Given the description of an element on the screen output the (x, y) to click on. 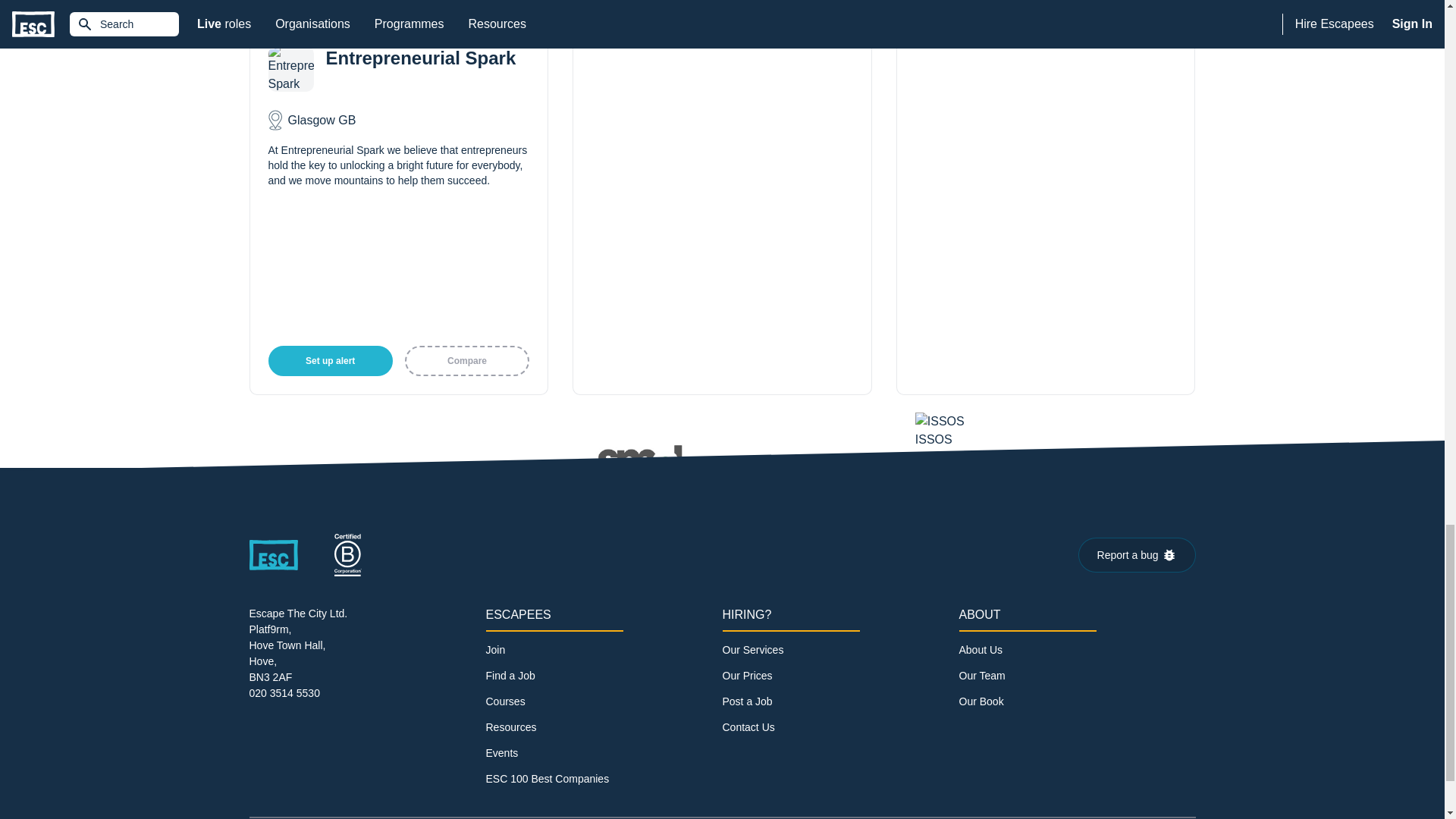
Compare (466, 360)
Set up alert (330, 360)
smol (721, 469)
